Given the description of an element on the screen output the (x, y) to click on. 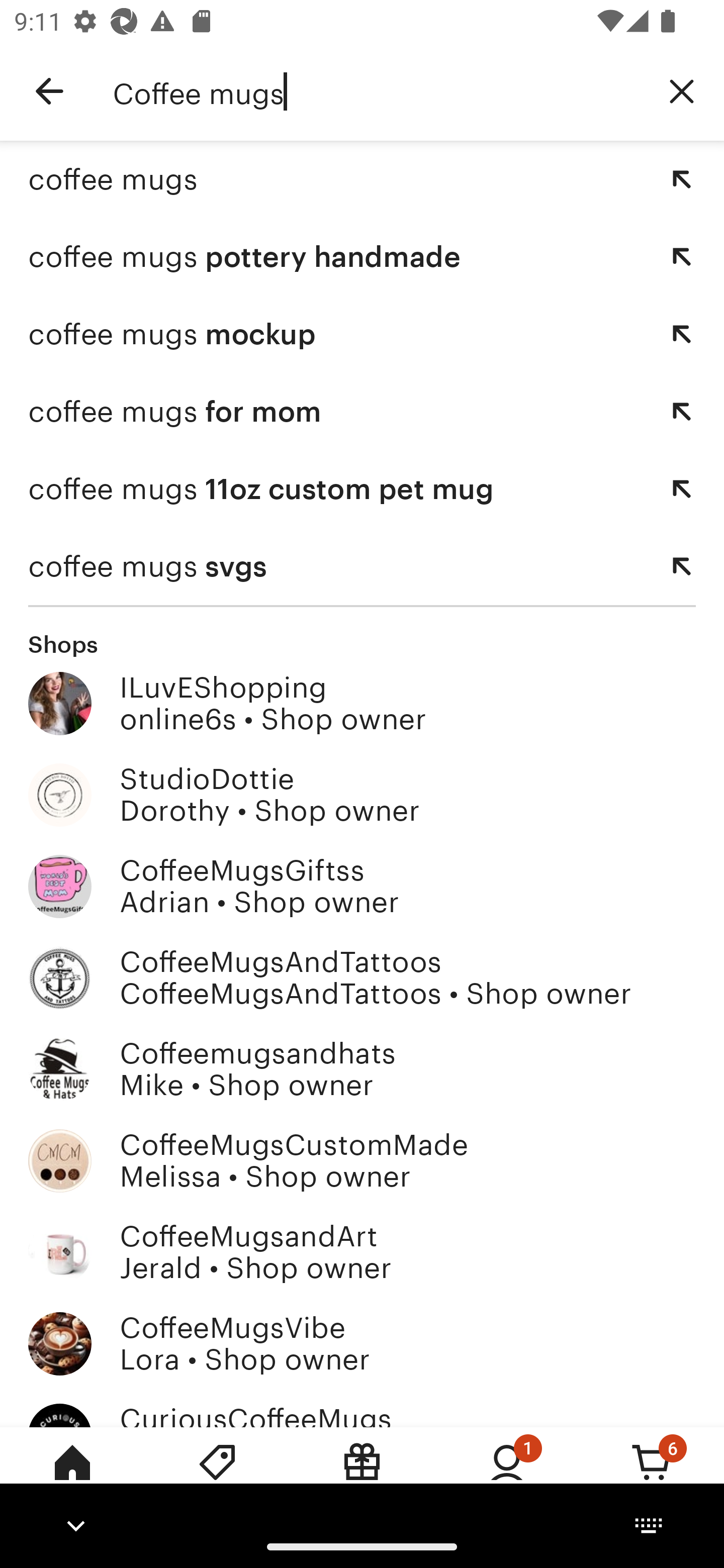
Navigate up (49, 91)
Clear query (681, 90)
Coffee mugs (375, 91)
Deals (216, 1475)
Gift Mode (361, 1475)
You, 1 new notification (506, 1475)
Cart, 6 new notifications (651, 1475)
